Given the description of an element on the screen output the (x, y) to click on. 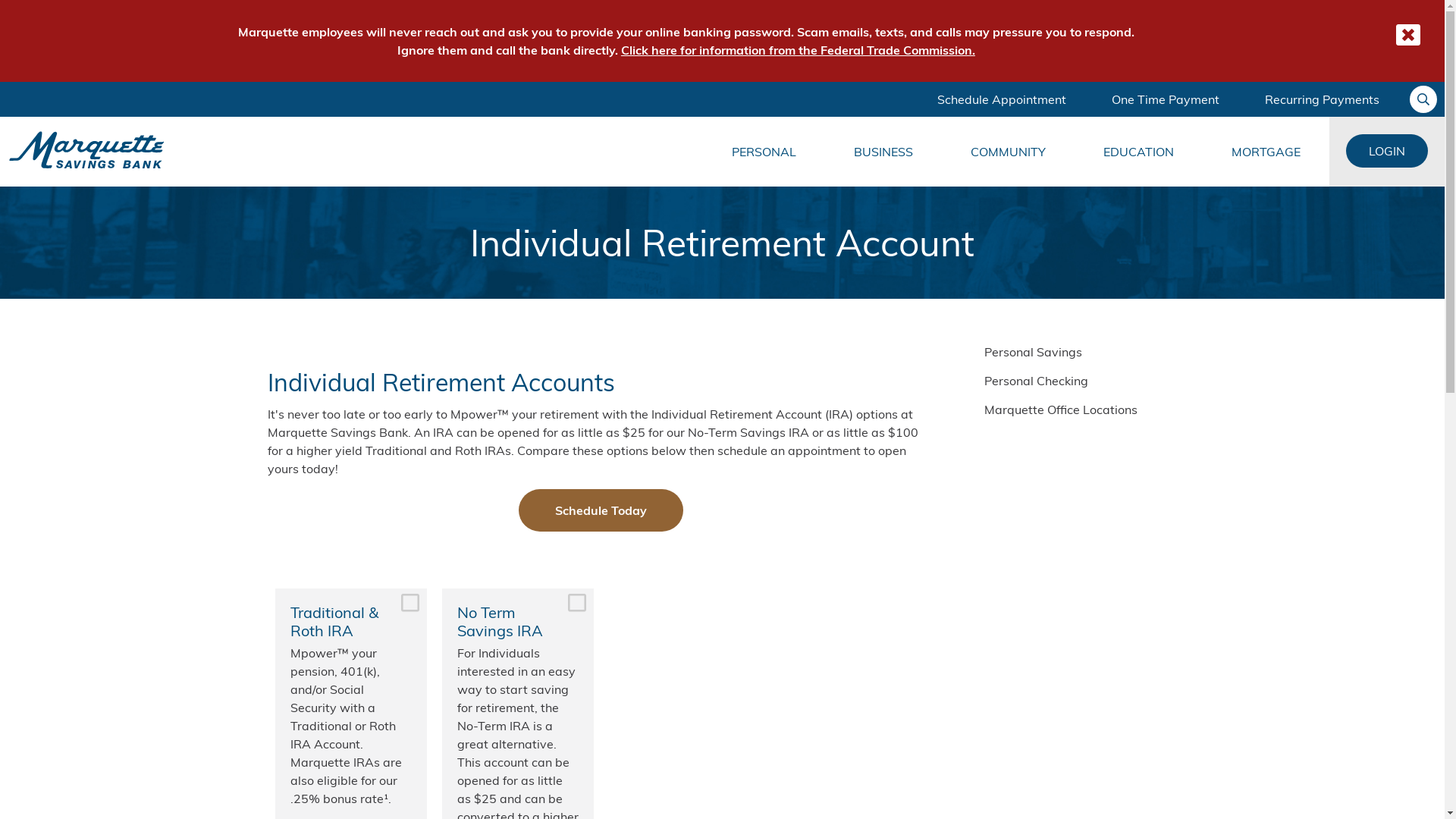
Personal Savings Element type: text (1085, 351)
COMMUNITY Element type: text (1008, 151)
PERSONAL Element type: text (763, 151)
Schedule Appointment Element type: text (1001, 98)
Personal Checking Element type: text (1085, 380)
Schedule Today Element type: text (600, 510)
MORTGAGE Element type: text (1265, 151)
One Time Payment Element type: text (1165, 98)
LOGIN Element type: text (1386, 150)
Marquette Office Locations Element type: text (1085, 409)
BUSINESS Element type: text (883, 151)
Close Important Global Message Element type: hover (1408, 34)
EDUCATION Element type: text (1138, 151)
Recurring Payments Element type: text (1322, 98)
